Given the description of an element on the screen output the (x, y) to click on. 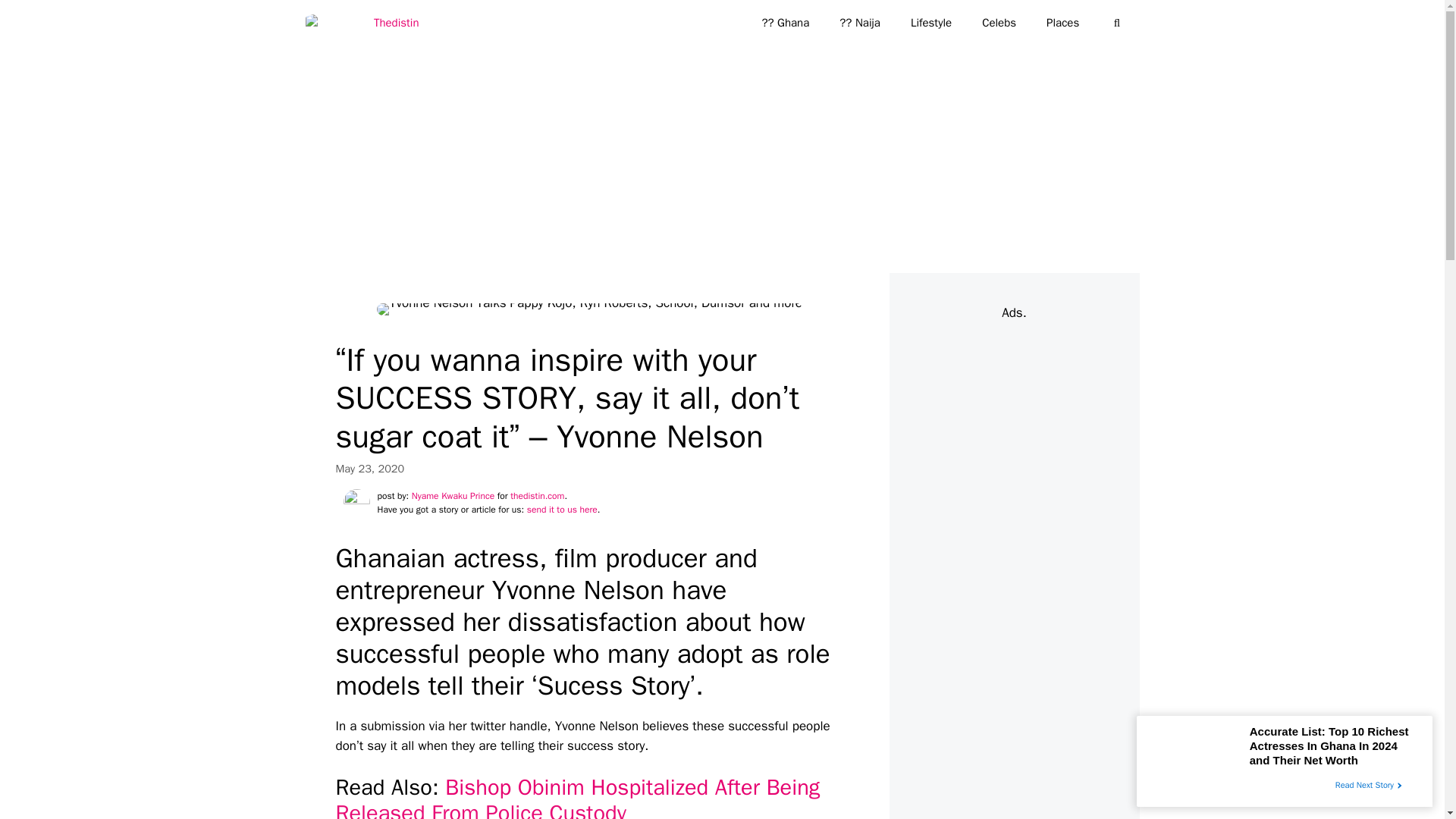
Places (1062, 22)
thedistin.com (537, 495)
?? Ghana (784, 22)
?? Naija (859, 22)
Nyame Kwaku Prince (453, 495)
send it to us here (561, 509)
Celebs (998, 22)
Thedistin (365, 22)
Lifestyle (930, 22)
Thedistin (361, 22)
